Given the description of an element on the screen output the (x, y) to click on. 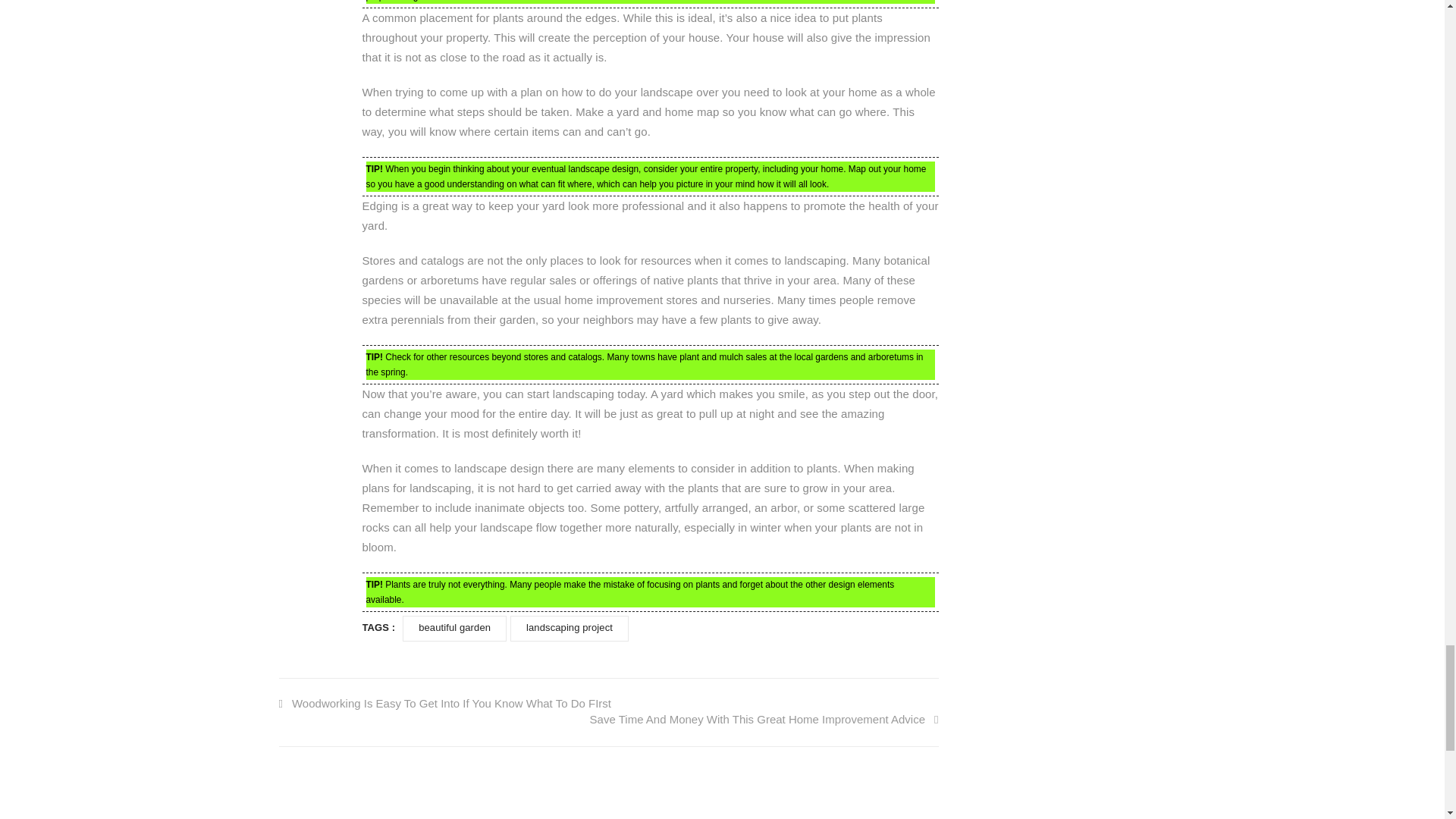
Save Time And Money With This Great Home Improvement Advice (764, 718)
landscaping project (569, 628)
Woodworking Is Easy To Get Into If You Know What To Do FIrst (445, 703)
Save Time And Money With This Great Home Improvement Advice (764, 718)
Woodworking Is Easy To Get Into If You Know What To Do FIrst (445, 703)
beautiful garden (454, 628)
